Given the description of an element on the screen output the (x, y) to click on. 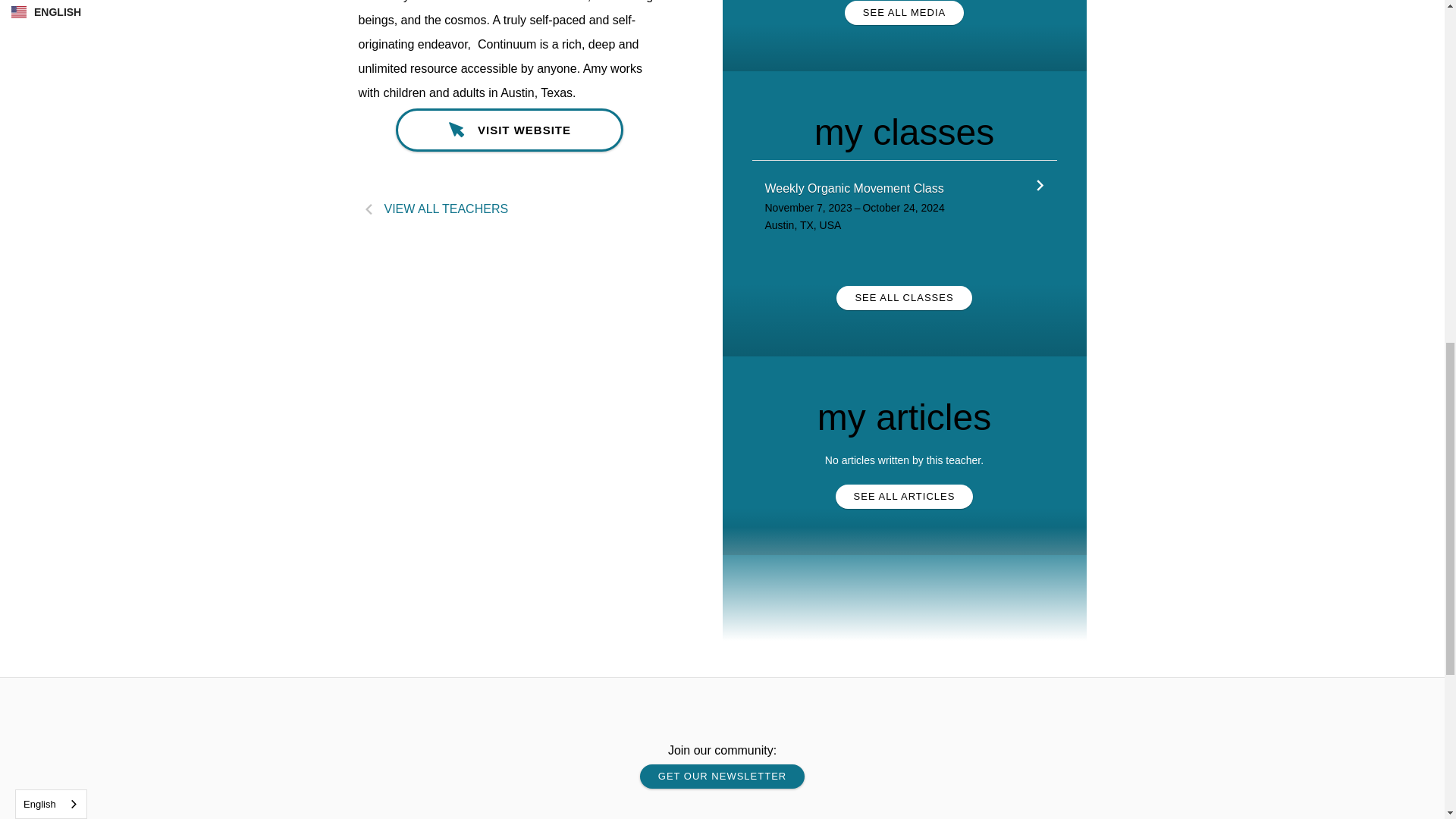
SEE ALL ARTICLES (904, 496)
VIEW ALL TEACHERS (509, 208)
SEE ALL CLASSES (903, 297)
GET OUR NEWSLETTER (722, 776)
SEE ALL MEDIA (903, 12)
